Given the description of an element on the screen output the (x, y) to click on. 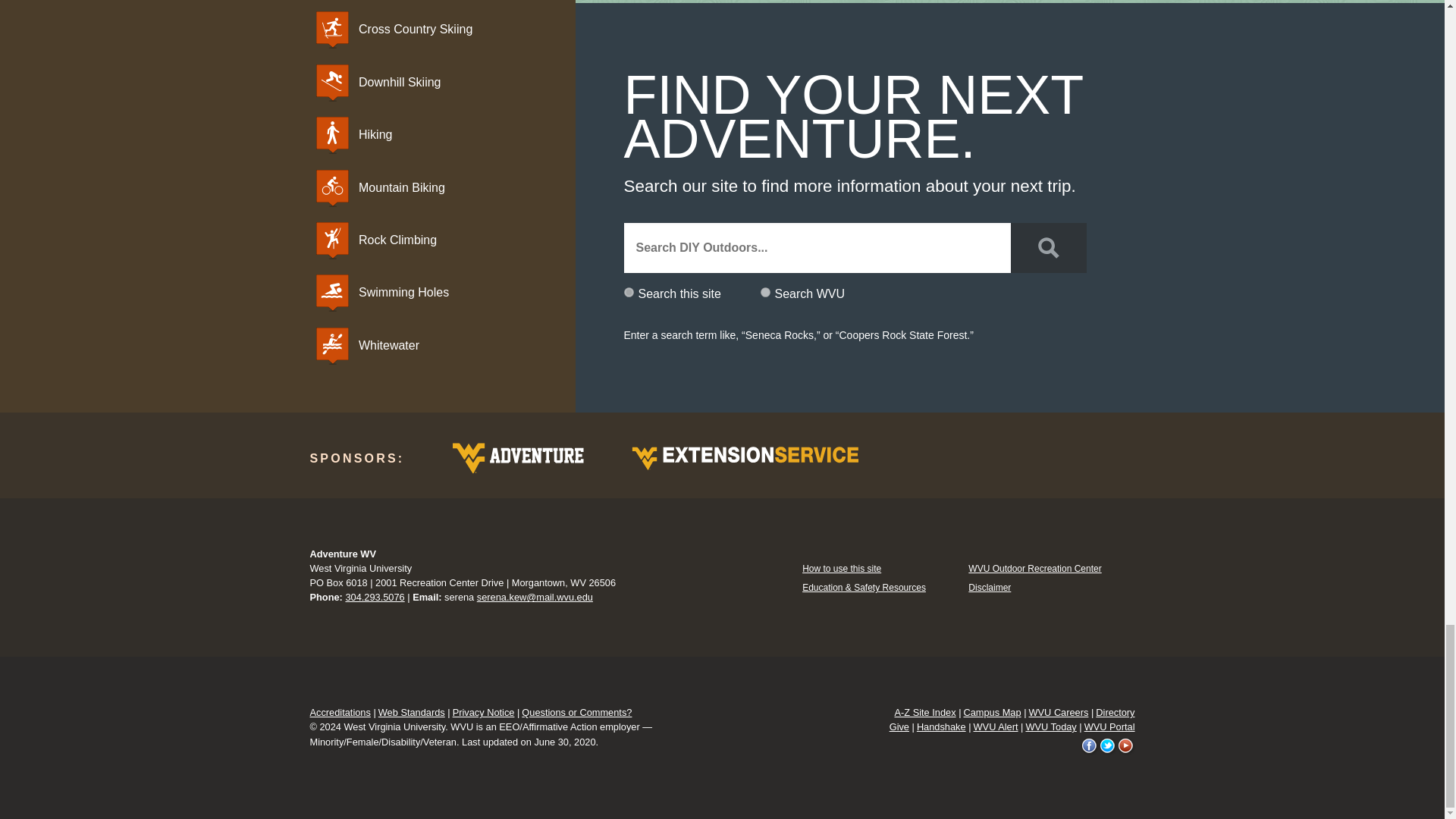
wvu.edu (765, 292)
diyoutdoors.wvu.edu (628, 292)
diyoutdoors.wvu.edu (628, 292)
Search (1048, 247)
Search (1048, 247)
wvu.edu (765, 292)
